Given the description of an element on the screen output the (x, y) to click on. 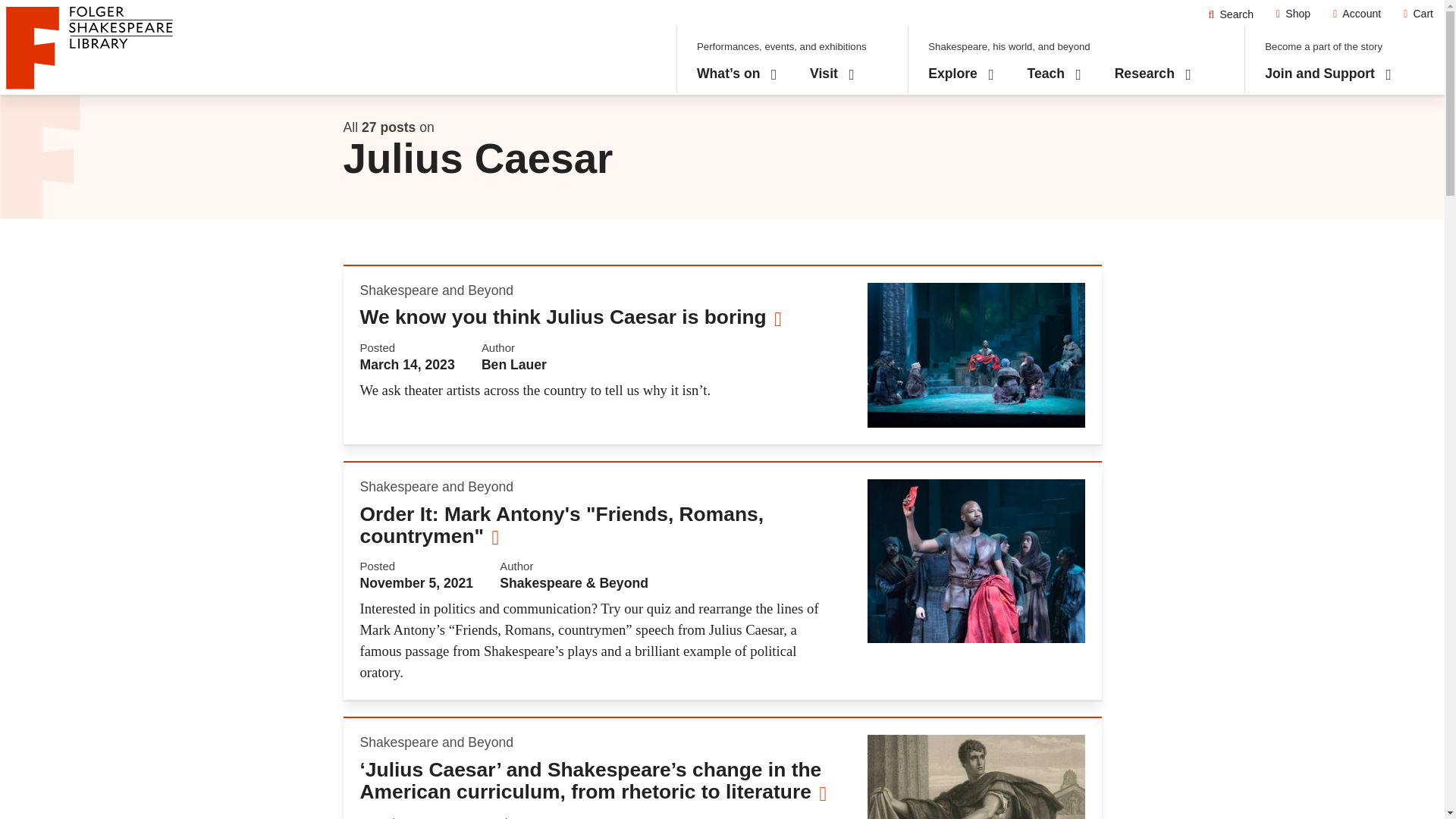
Account (1356, 13)
Explore (961, 73)
Teach (1053, 73)
Research (1152, 73)
29070-sm (975, 776)
Shop (1293, 13)
Visit (831, 73)
Folger Shakespeare Library - Home (1230, 14)
